Given the description of an element on the screen output the (x, y) to click on. 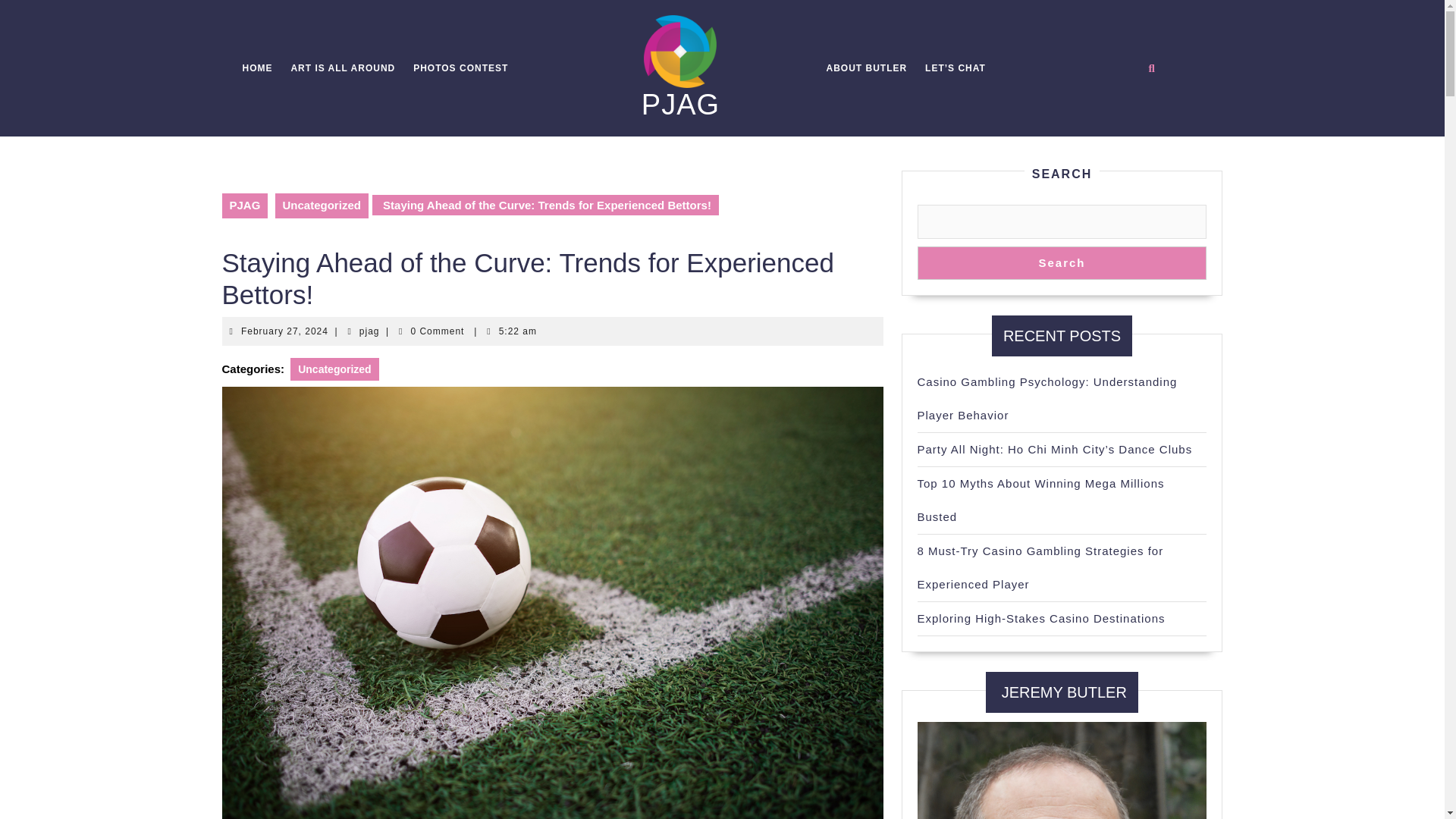
PJAG (244, 205)
ABOUT BUTLER (369, 330)
HOME (866, 68)
PJAG (257, 68)
ART IS ALL AROUND (285, 330)
Uncategorized (680, 104)
PHOTOS CONTEST (342, 68)
Uncategorized (333, 368)
